Given the description of an element on the screen output the (x, y) to click on. 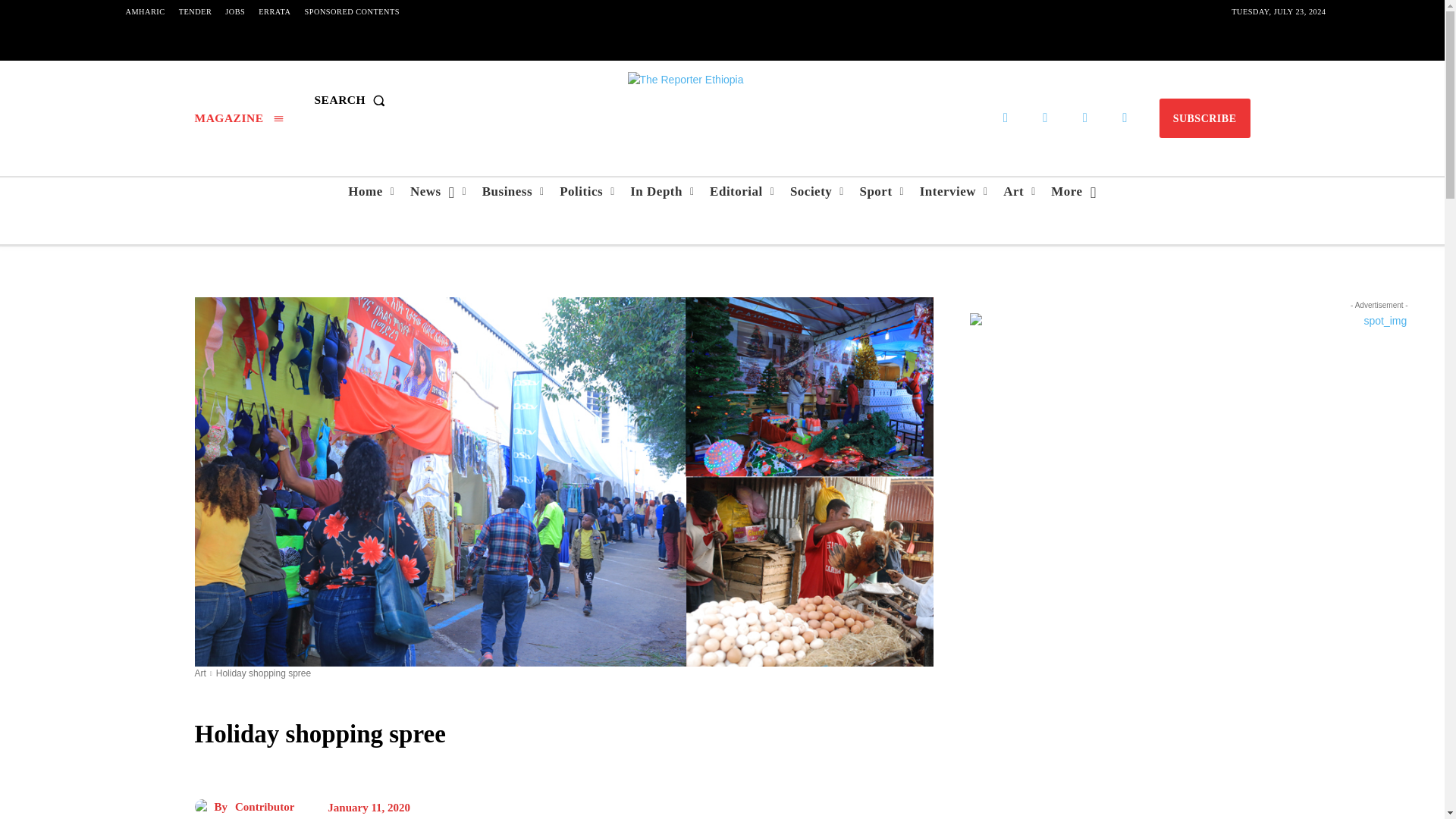
JOBS (234, 12)
The Reporter Ethiopia, Ethiopian News (721, 99)
The Reporter Ethiopia, Ethiopian News (721, 99)
SEARCH (352, 99)
ERRATA (274, 12)
Telegram (1045, 118)
AMHARIC (144, 12)
MAGAZINE (238, 117)
Facebook (1006, 118)
TENDER (195, 12)
Twitter (1085, 118)
Magazine (238, 117)
SPONSORED CONTENTS (352, 12)
Youtube (1124, 118)
Subscribe (1204, 118)
